Given the description of an element on the screen output the (x, y) to click on. 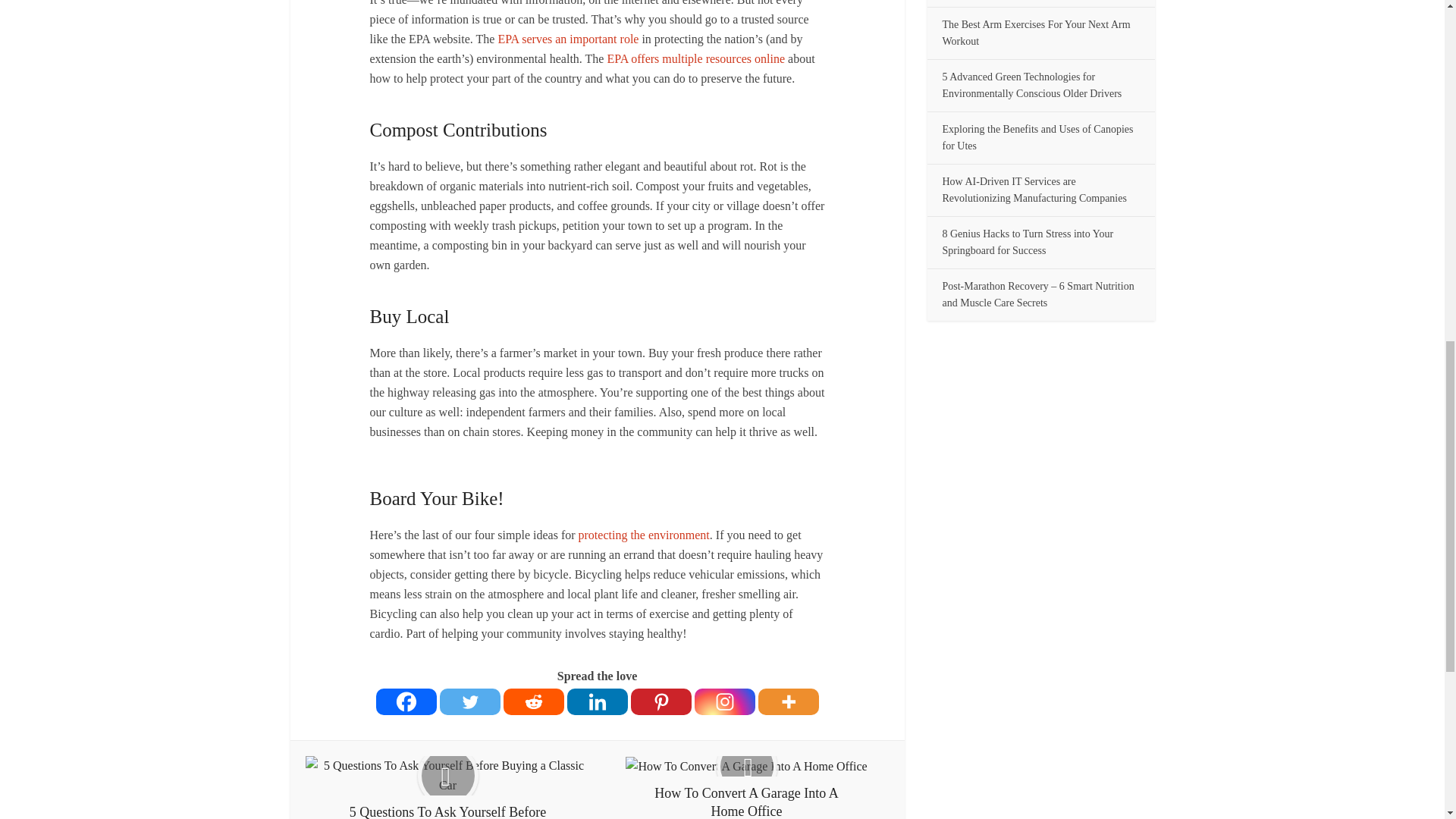
Pinterest (660, 701)
 and EPA serves an important role (568, 38)
More (788, 701)
 and EPA offers multiple resources online (695, 58)
EPA offers multiple resources online (695, 58)
protecting the environment (644, 534)
5 Questions To Ask Yourself Before Buying a Classic Car (447, 787)
EPA serves an important role (568, 38)
How To Convert A Garage Into A Home Office (746, 787)
